Given the description of an element on the screen output the (x, y) to click on. 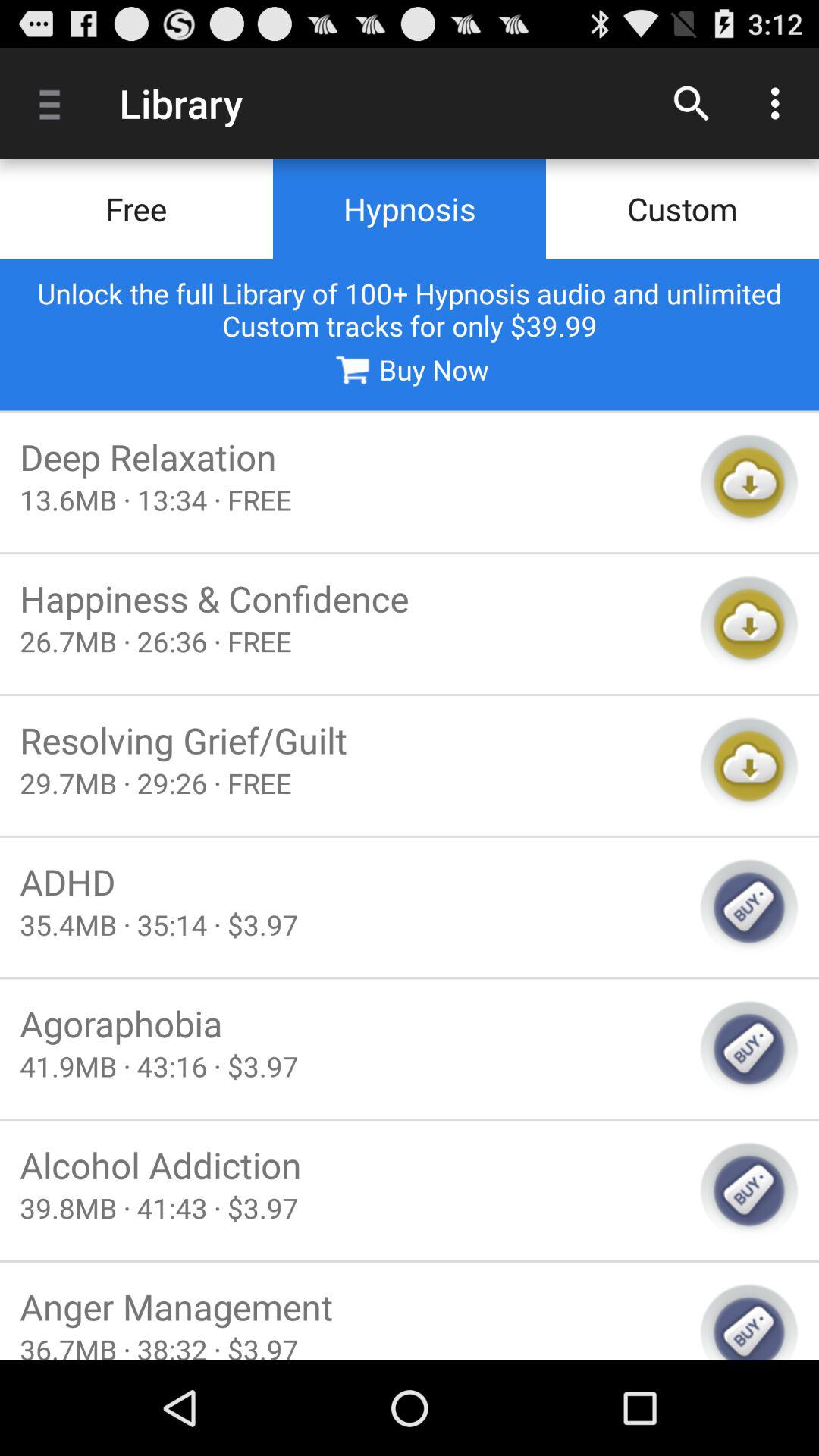
click resolving grief/guilt item (349, 740)
